Given the description of an element on the screen output the (x, y) to click on. 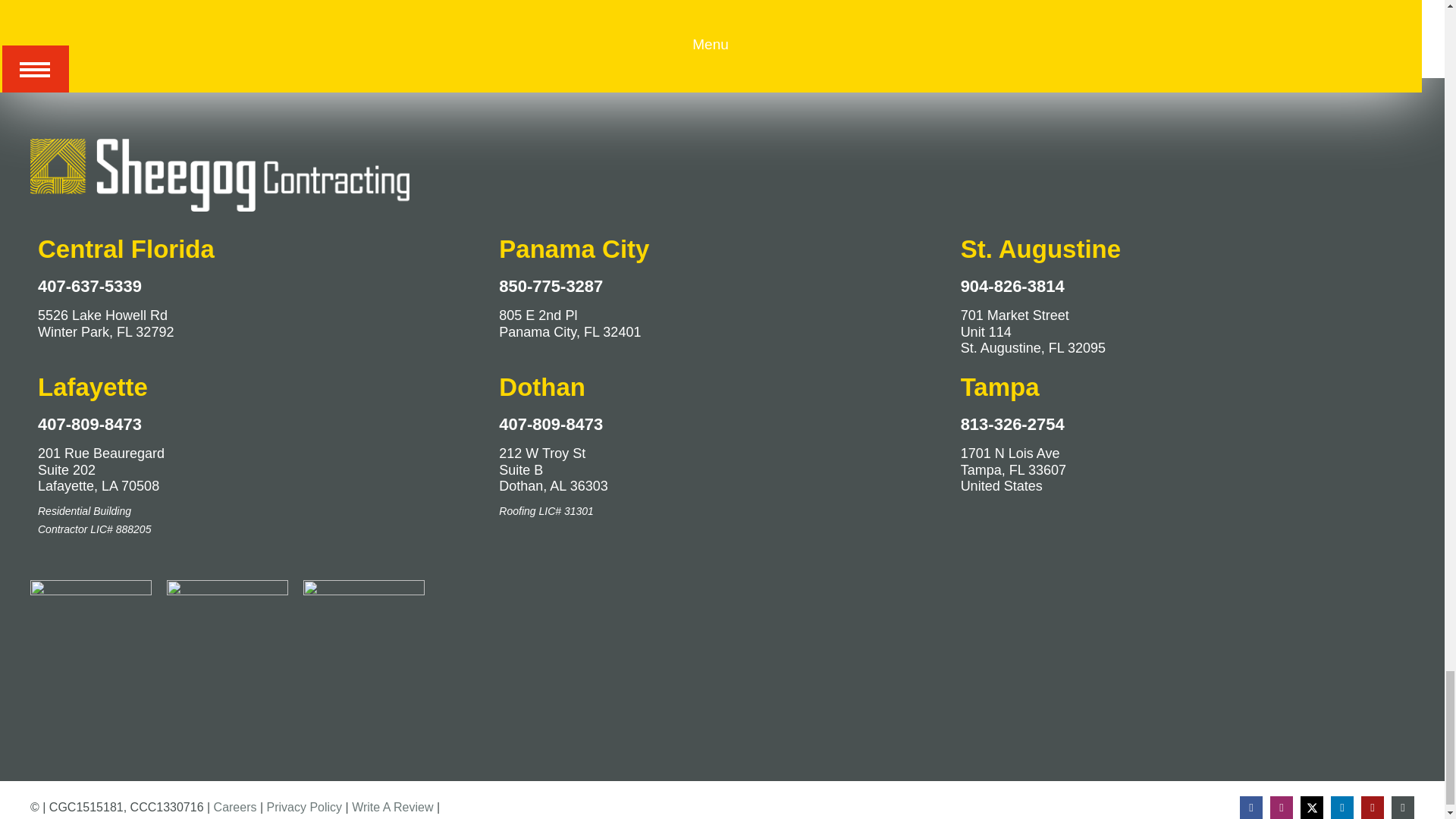
Write A Review (392, 807)
813-326-2754 (1012, 424)
Privacy Policy (304, 807)
850-775-3287 (550, 285)
Careers (235, 807)
904-826-3814 (1012, 285)
